Given the description of an element on the screen output the (x, y) to click on. 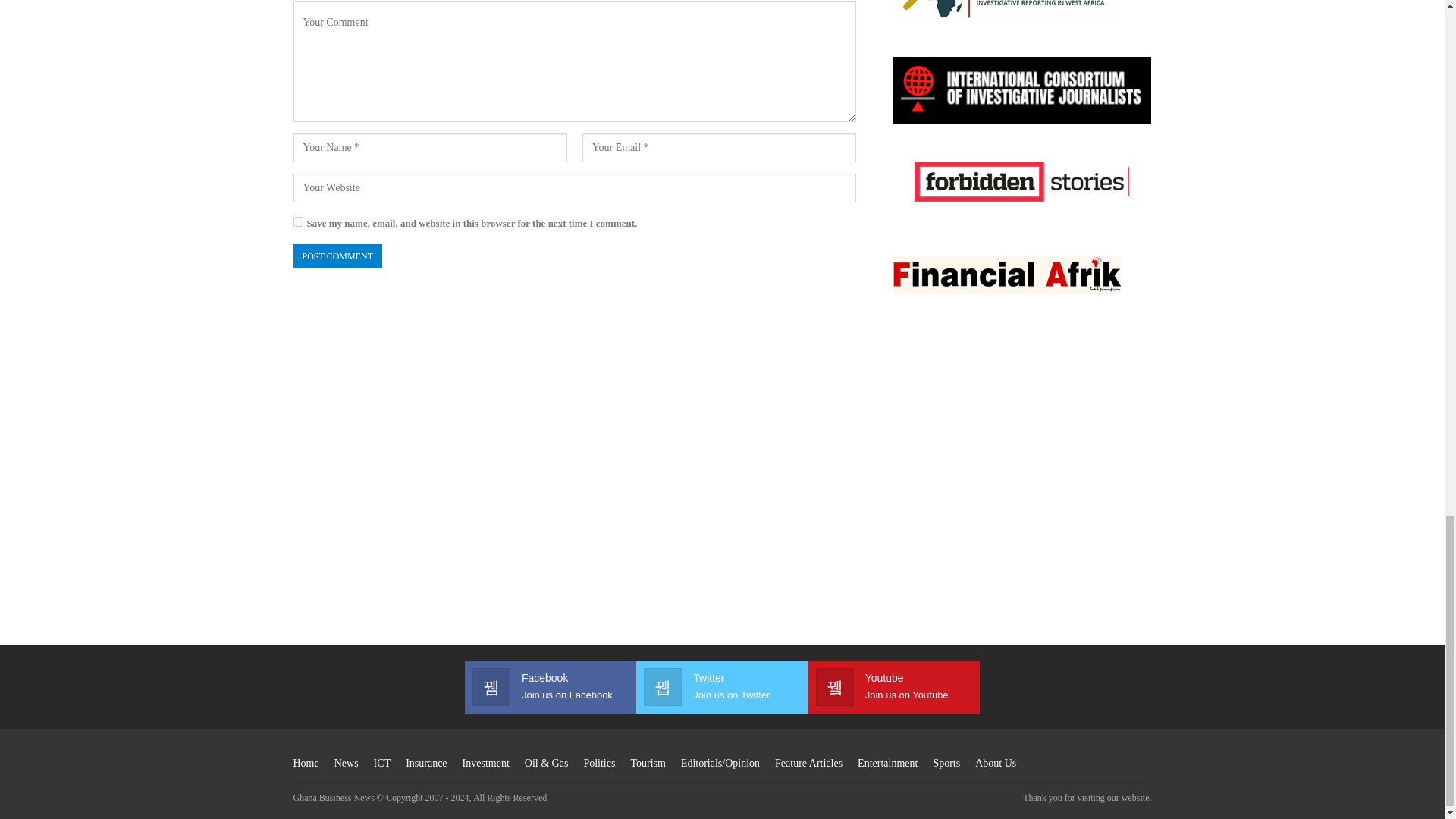
Post Comment (336, 256)
yes (297, 221)
